Given the description of an element on the screen output the (x, y) to click on. 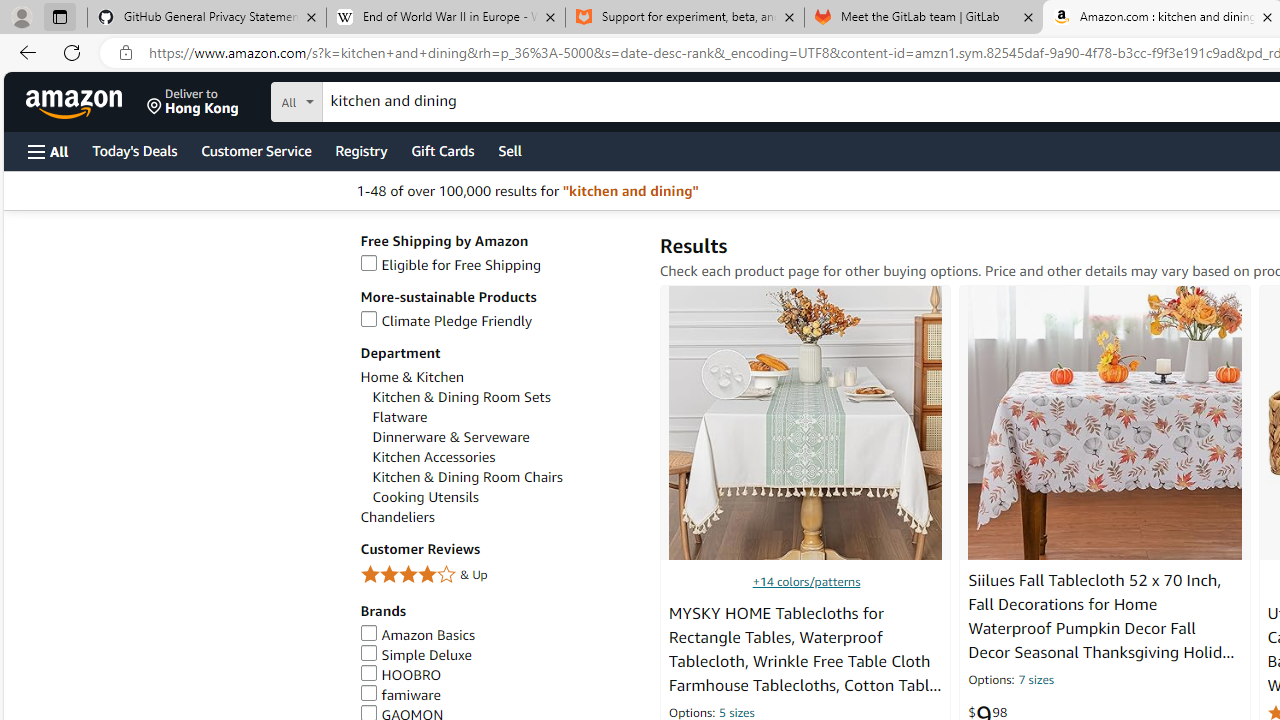
Kitchen Accessories (434, 457)
Simple Deluxe (499, 655)
Eligible for Free Shipping (450, 264)
Cooking Utensils (506, 497)
Today's Deals (134, 150)
Climate Pledge Friendly (445, 321)
Amazon Basics (499, 635)
Kitchen & Dining Room Sets (461, 397)
HOOBRO (400, 674)
4 Stars & Up (499, 575)
famiware (400, 694)
